Given the description of an element on the screen output the (x, y) to click on. 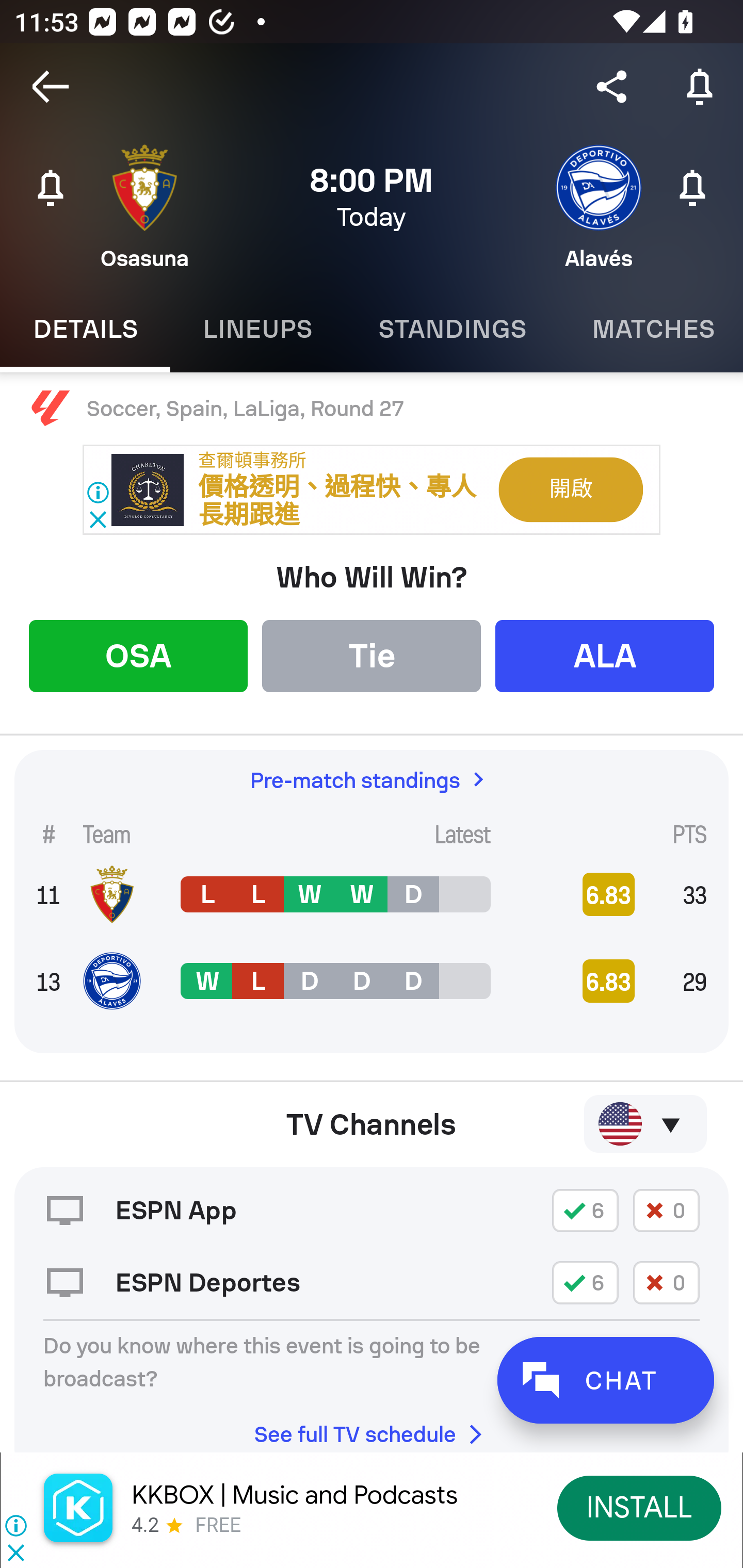
Navigate up (50, 86)
Lineups LINEUPS (257, 329)
Standings STANDINGS (451, 329)
Matches MATCHES (650, 329)
Soccer, Spain, LaLiga, Round 27 (371, 409)
OSA (137, 655)
Tie (371, 655)
ALA (604, 655)
6 (585, 1210)
0 (666, 1210)
6 (585, 1282)
0 (666, 1282)
CHAT (605, 1380)
See full TV schedule (371, 1427)
INSTALL (639, 1507)
KKBOX | Music and Podcasts (294, 1494)
